Given the description of an element on the screen output the (x, y) to click on. 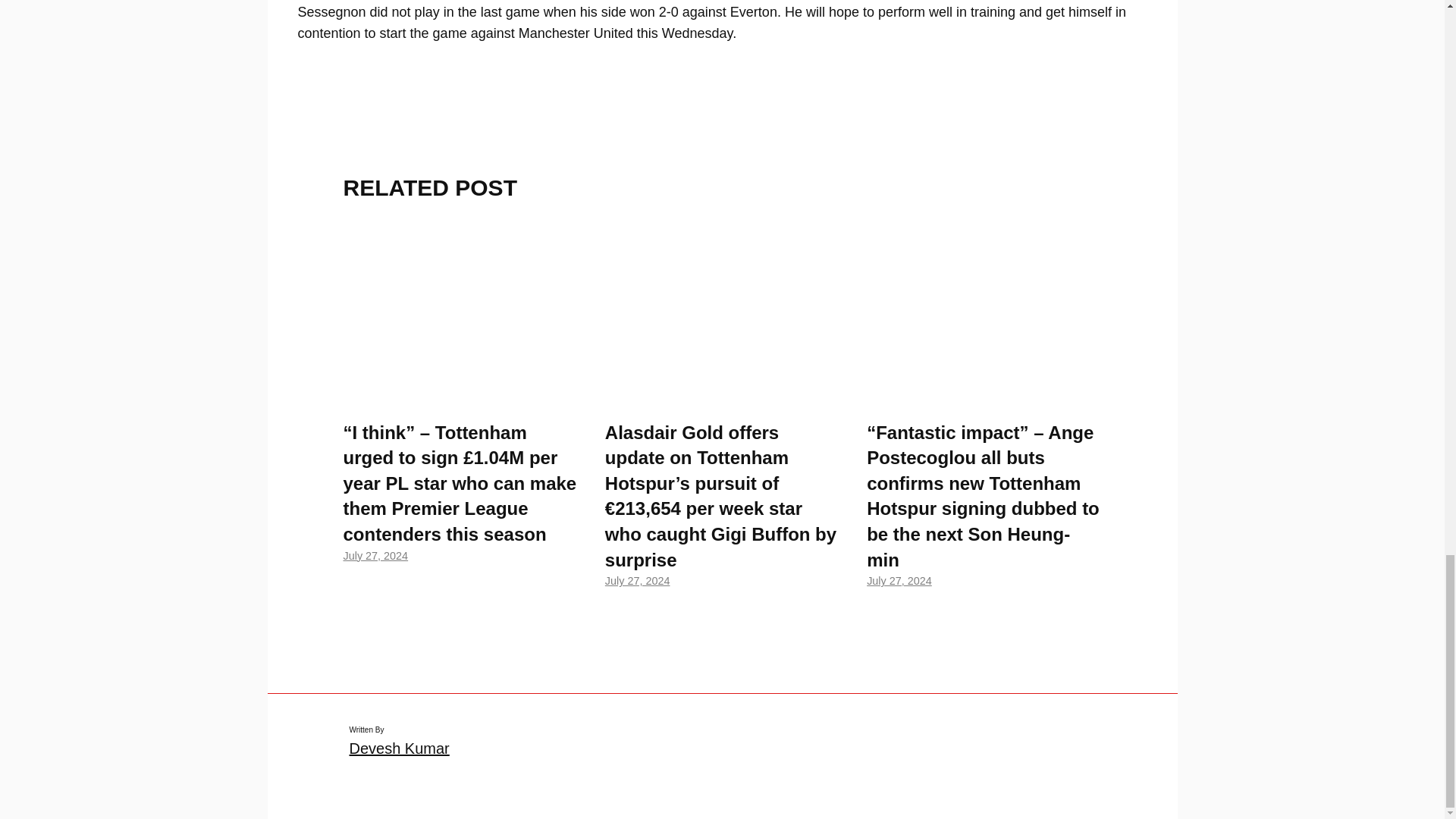
2:30 pm (898, 580)
4:30 pm (374, 555)
3:30 pm (637, 580)
July 27, 2024 (374, 555)
